Given the description of an element on the screen output the (x, y) to click on. 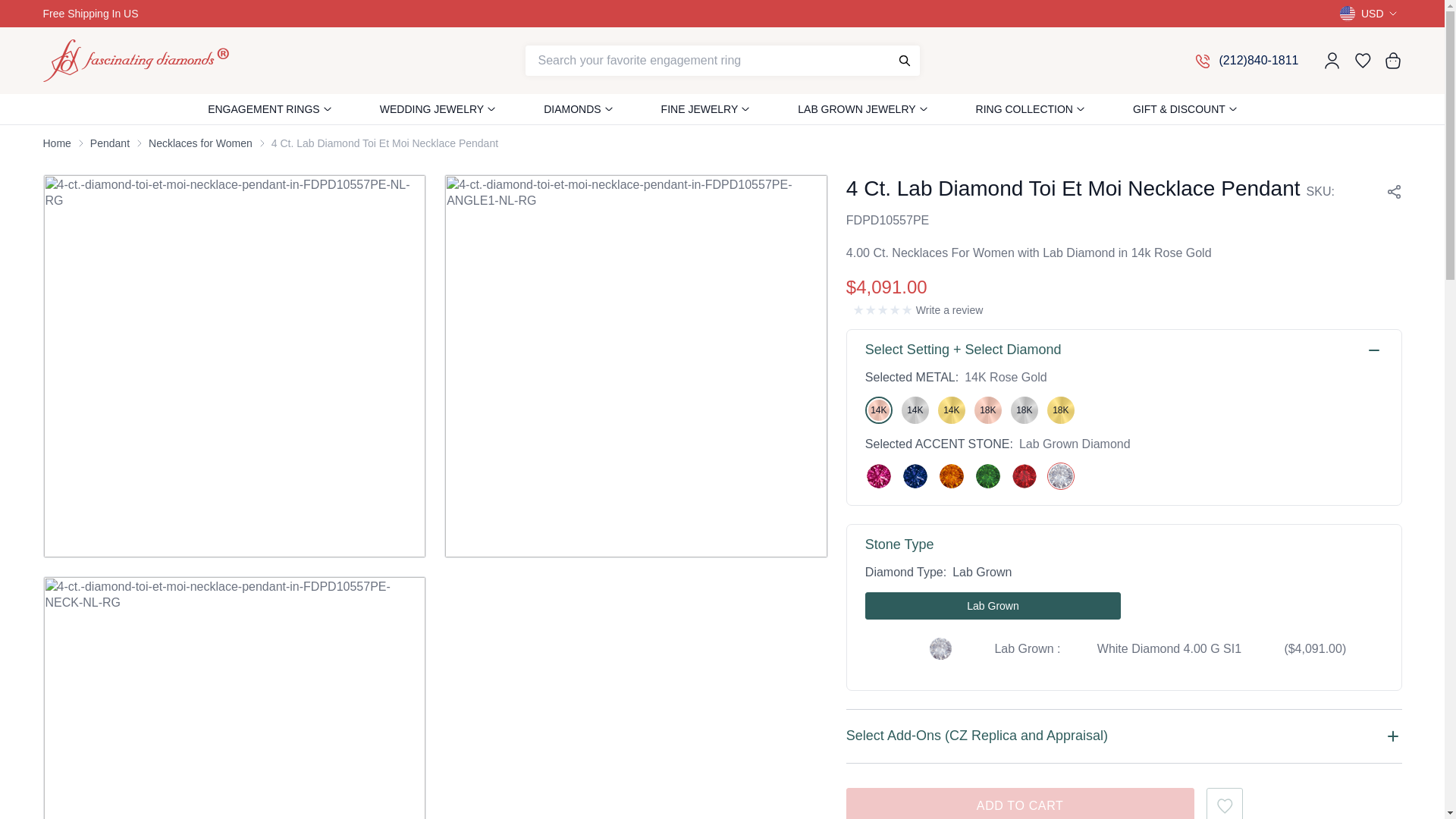
ENGAGEMENT RINGS (264, 109)
